Given the description of an element on the screen output the (x, y) to click on. 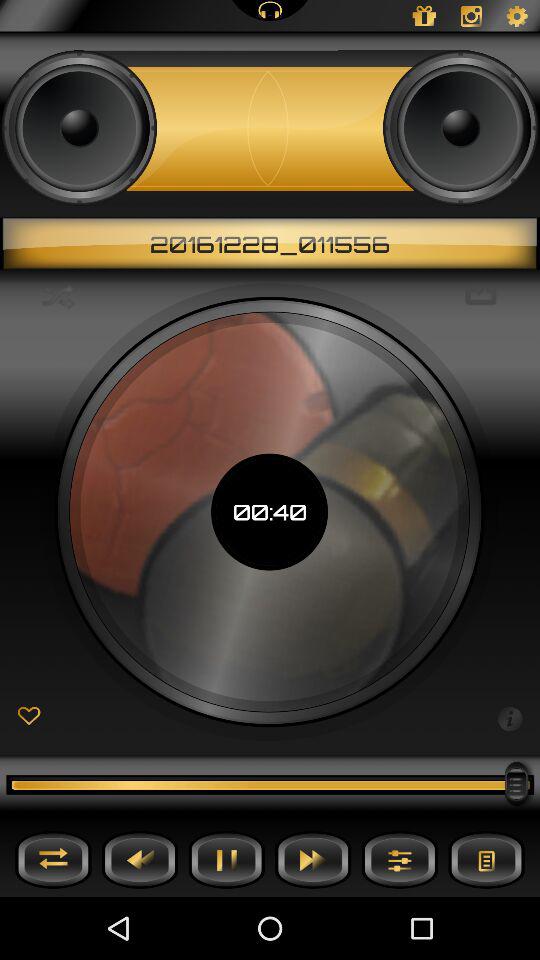
fast forward button (313, 859)
